Given the description of an element on the screen output the (x, y) to click on. 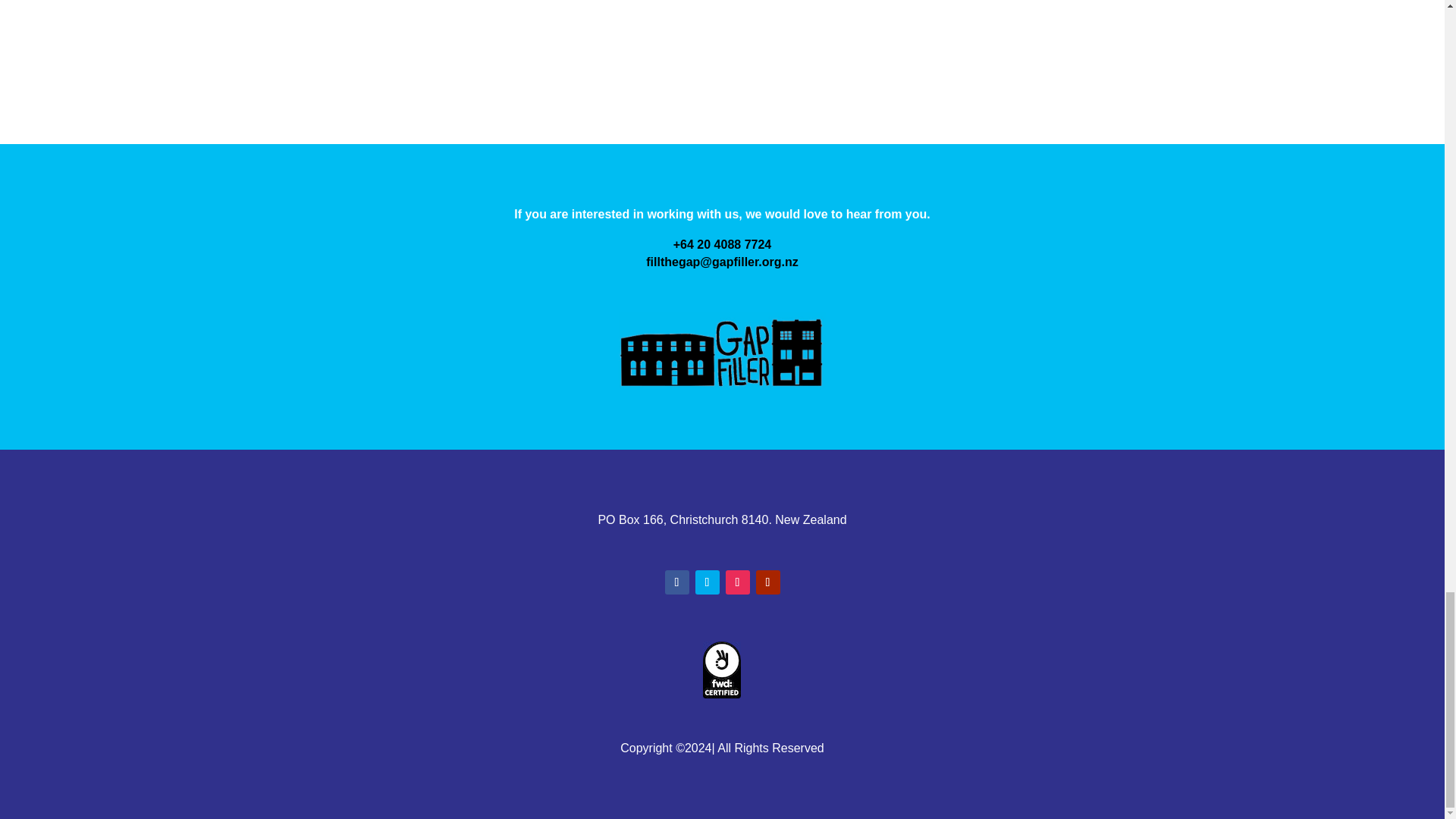
Follow on Youtube (766, 582)
Follow on Instagram (737, 582)
Sit!: Experiments in public furniture (722, 41)
Follow on Facebook (675, 582)
GF-Logo-Blue (721, 350)
Follow on Twitter (706, 582)
